Given the description of an element on the screen output the (x, y) to click on. 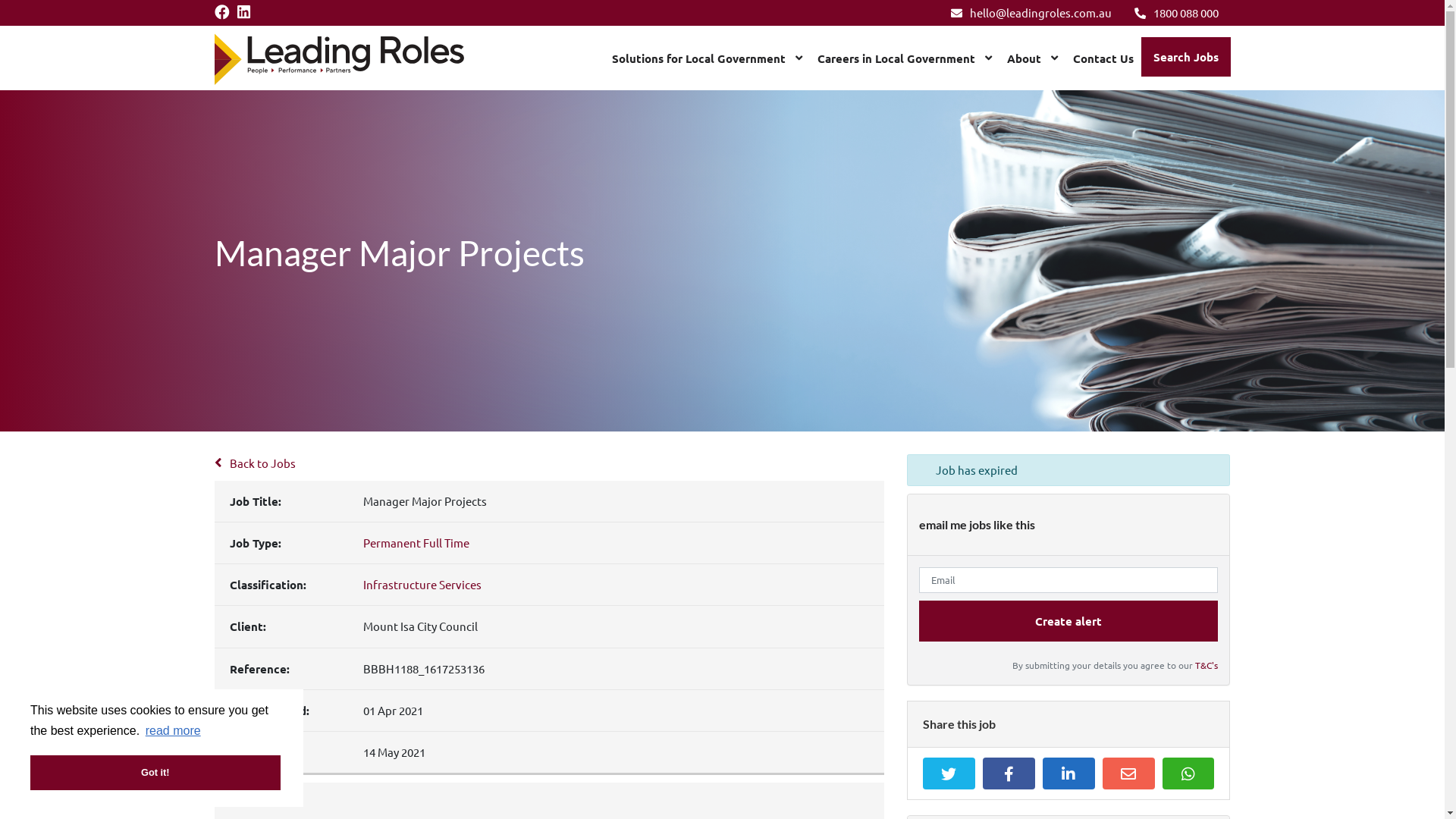
Twitter Element type: hover (948, 773)
Solutions for Local Government Element type: text (706, 57)
Search Jobs Element type: text (1184, 56)
Contact Us Element type: text (1102, 57)
T&C's Element type: text (1206, 664)
Got it! Element type: text (155, 772)
Permanent Full Time Element type: text (416, 542)
Facebook Element type: hover (1008, 773)
1800 088 000 Element type: text (1176, 12)
read more Element type: text (173, 730)
Careers in Local Government Element type: text (904, 57)
Infrastructure Services Element type: text (422, 584)
Back to Jobs Element type: text (253, 462)
hello@leadingroles.com.au Element type: text (1030, 12)
Email Element type: hover (1128, 773)
LinkedIn Element type: hover (1068, 773)
About Element type: text (1032, 57)
Create alert Element type: text (1068, 621)
